Given the description of an element on the screen output the (x, y) to click on. 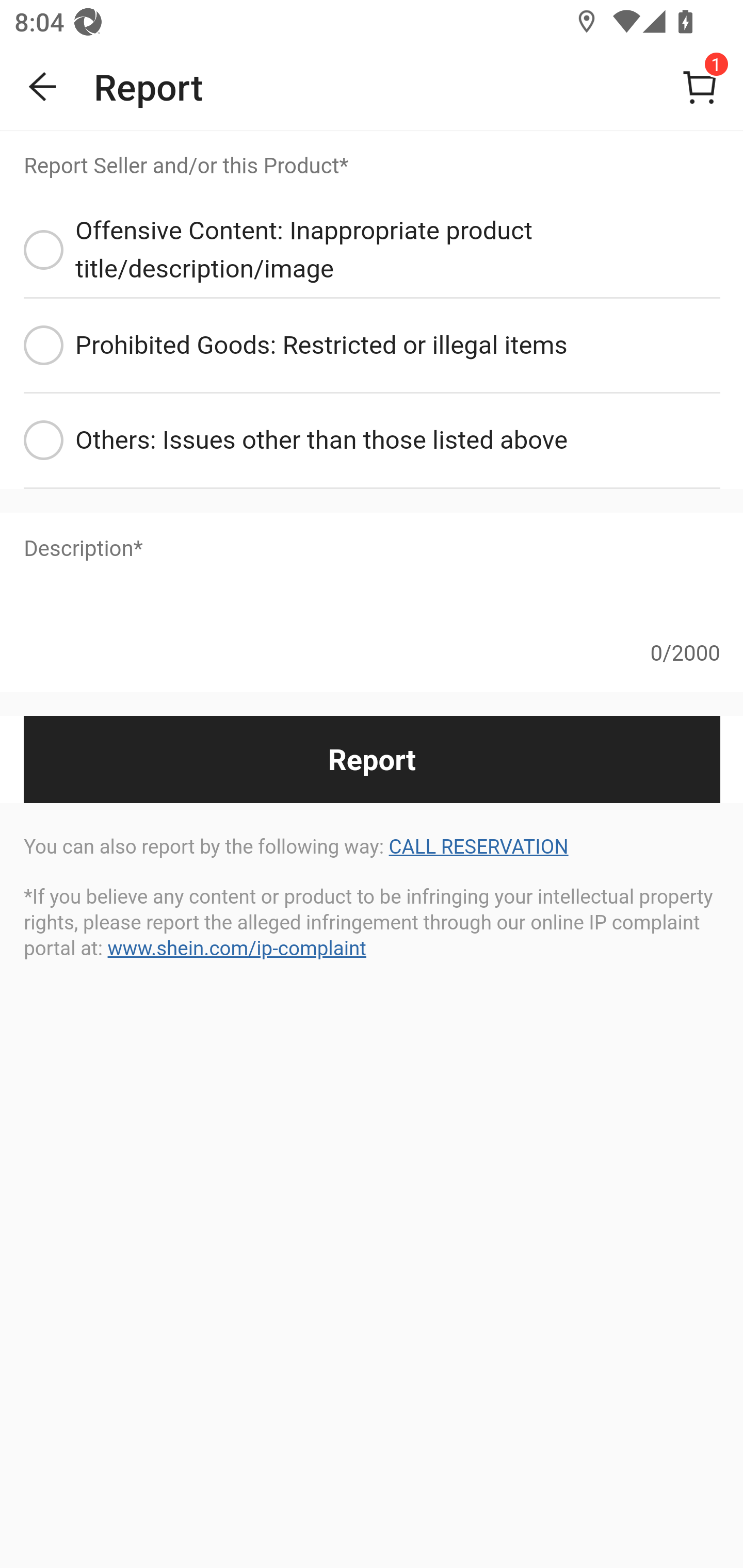
BACK (43, 86)
Cart 1 (699, 86)
 Prohibited Goods: Restricted or illegal items (371, 346)
 Others: Issues other than those listed above (371, 441)
Report (371, 758)
CALL RESERVATION (477, 847)
www.shein.com/ip-complaint (236, 947)
